Given the description of an element on the screen output the (x, y) to click on. 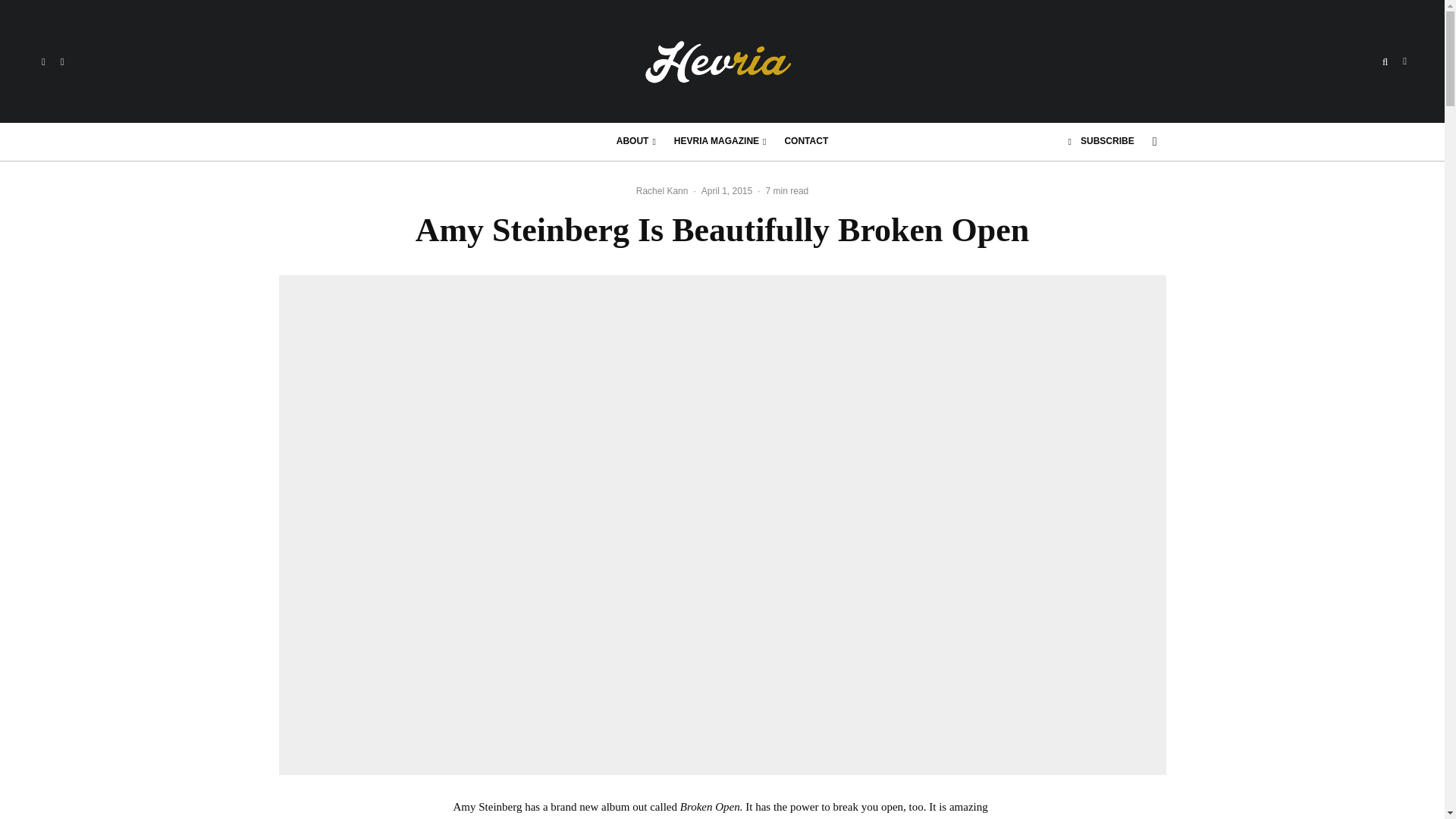
HEVRIA MAGAZINE (720, 141)
SUBSCRIBE (1100, 141)
Rachel Kann (662, 190)
CONTACT (805, 141)
ABOUT (636, 141)
